Given the description of an element on the screen output the (x, y) to click on. 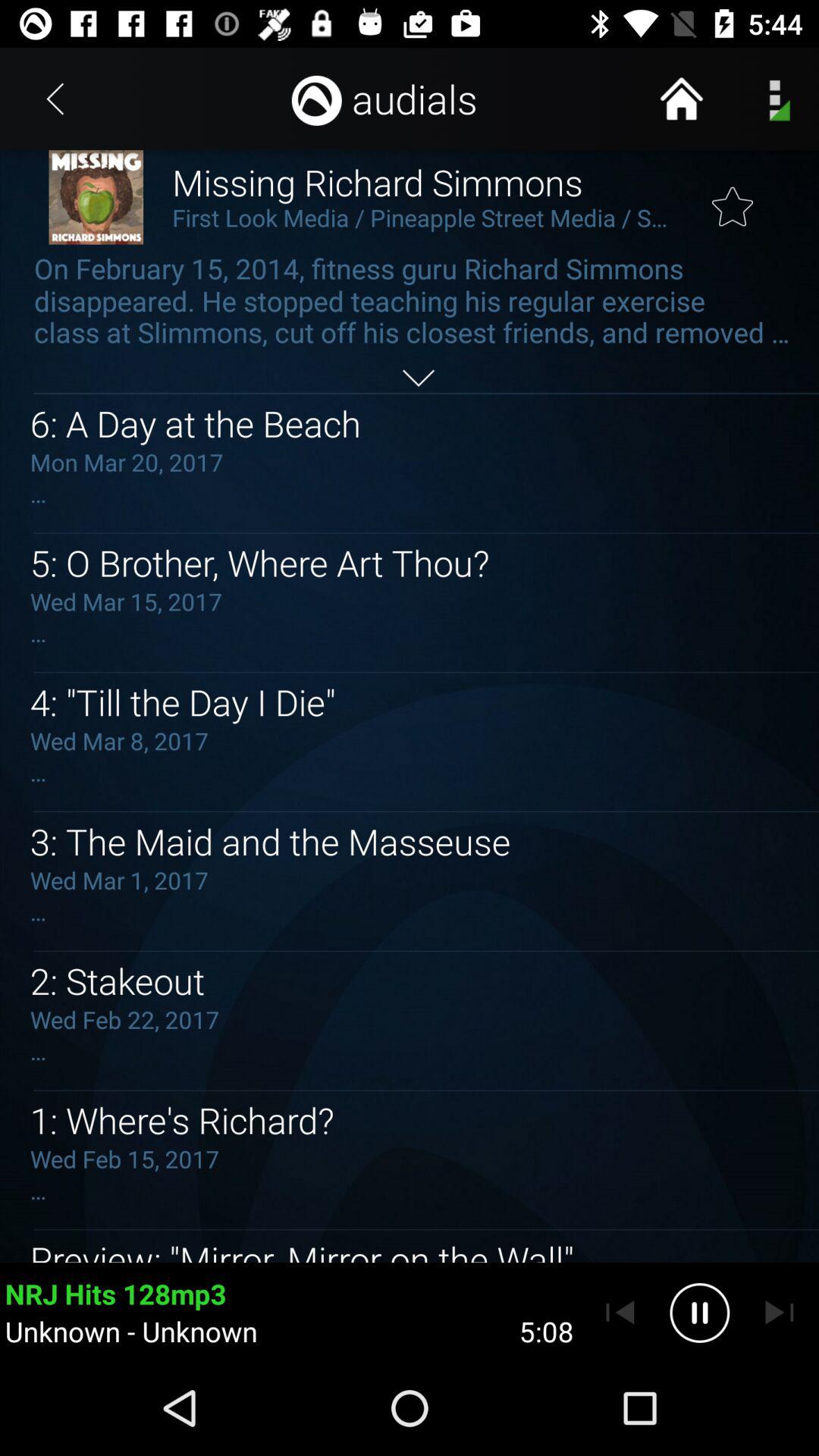
go to next (779, 1312)
